Given the description of an element on the screen output the (x, y) to click on. 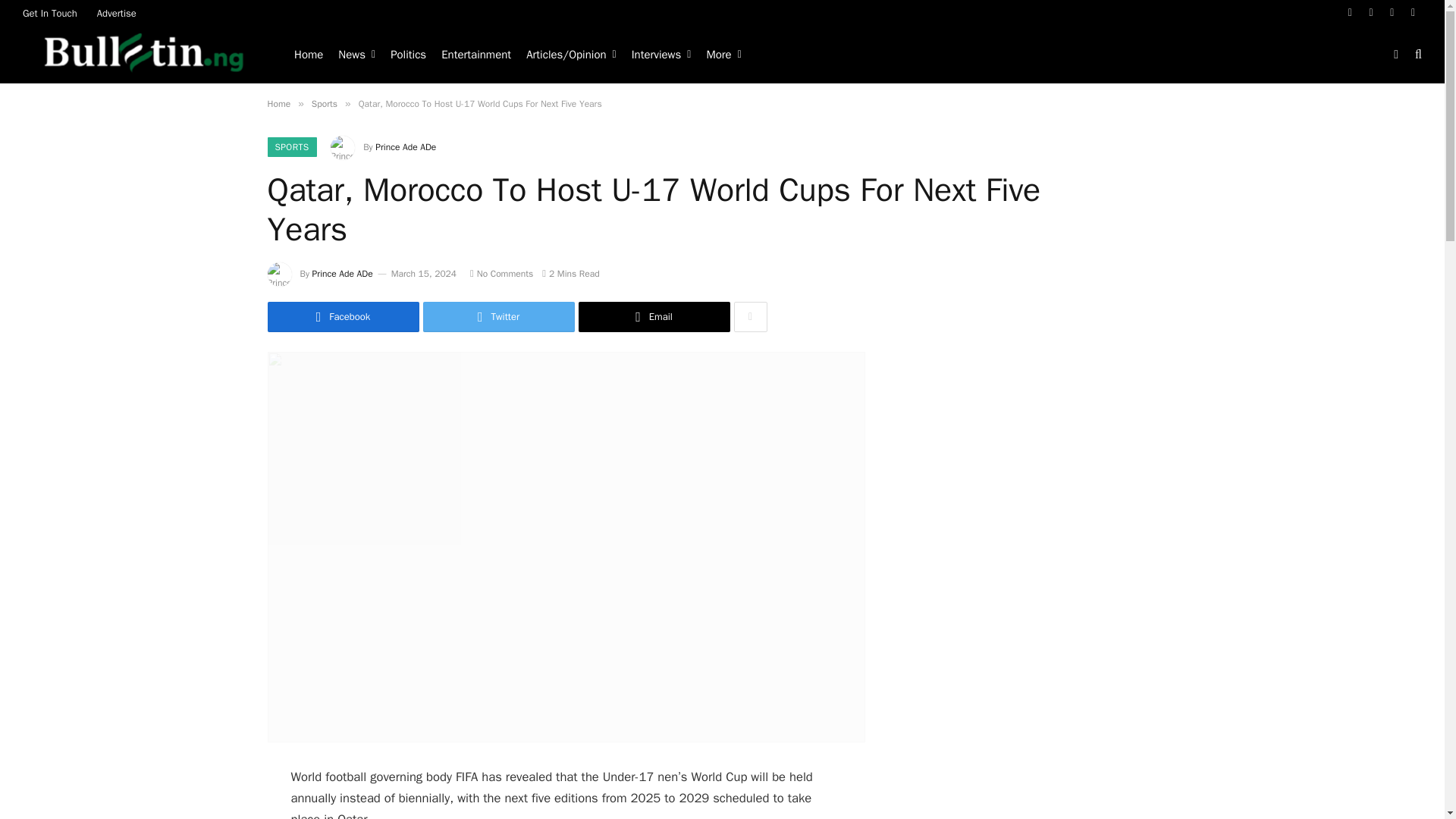
News (356, 54)
Share on Facebook (342, 317)
Share on Twitter (499, 317)
Posts by Prince Ade ADe (405, 146)
Posts by Prince Ade ADe (342, 273)
Advertise (117, 12)
Get In Touch (50, 12)
BulletinNG (145, 54)
Switch to Dark Design - easier on eyes. (1396, 54)
Share via Email (653, 317)
